Given the description of an element on the screen output the (x, y) to click on. 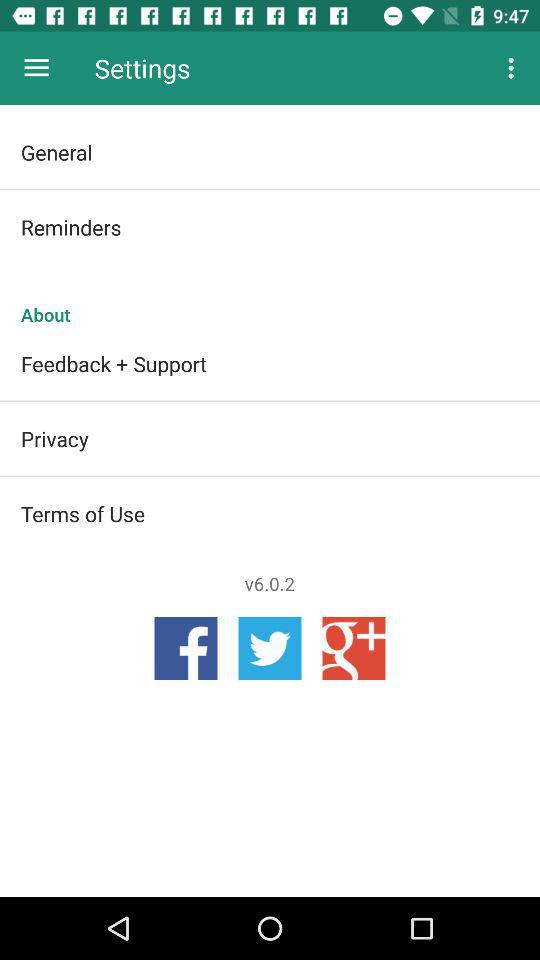
swipe until reminders icon (270, 227)
